Given the description of an element on the screen output the (x, y) to click on. 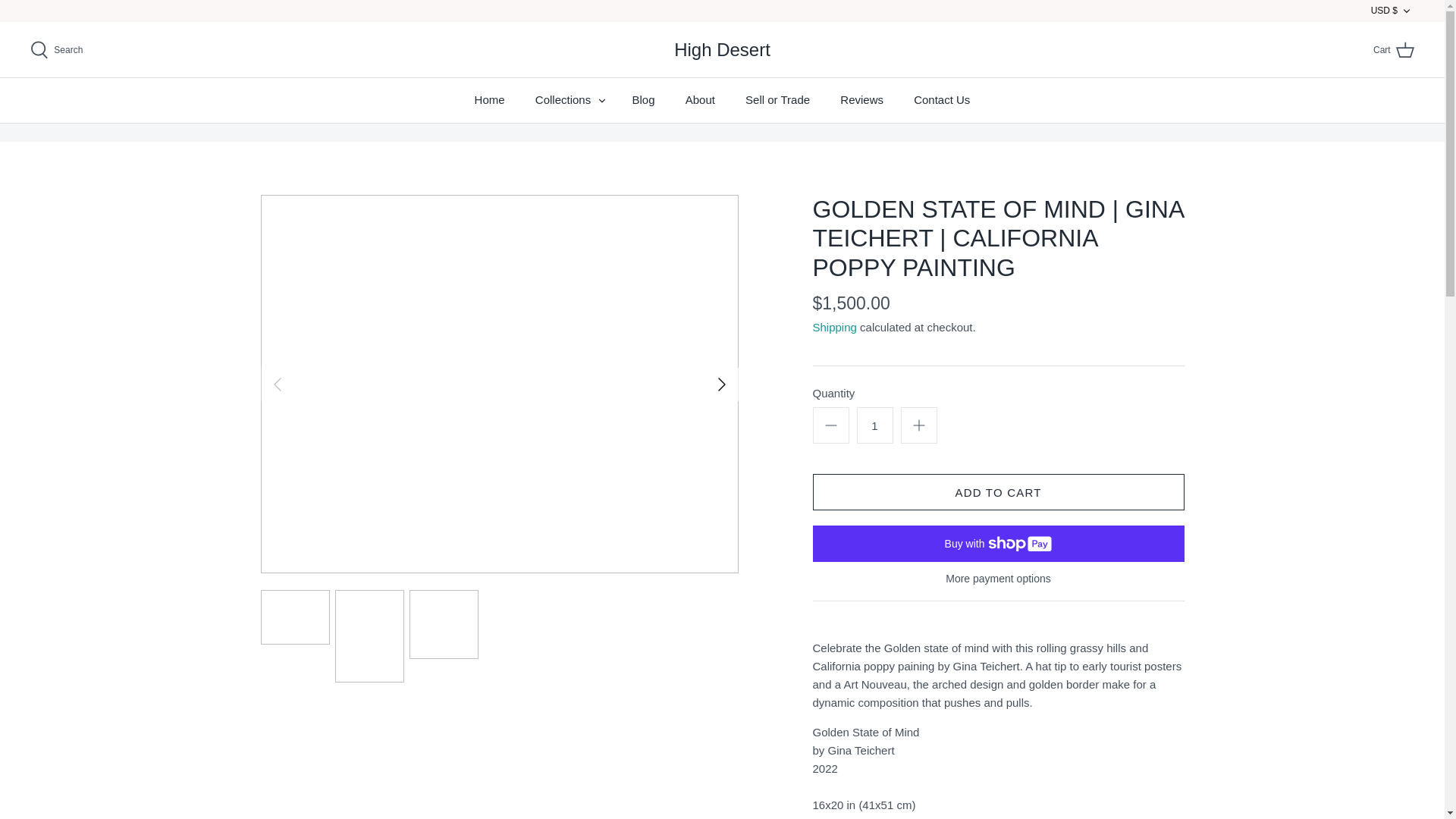
LEFT (276, 384)
Add to Cart (998, 492)
1 (875, 425)
RIGHT (721, 384)
Toggle menu (601, 100)
High Desert  (722, 49)
Plus (919, 425)
Down (1406, 10)
Minus (831, 425)
